Given the description of an element on the screen output the (x, y) to click on. 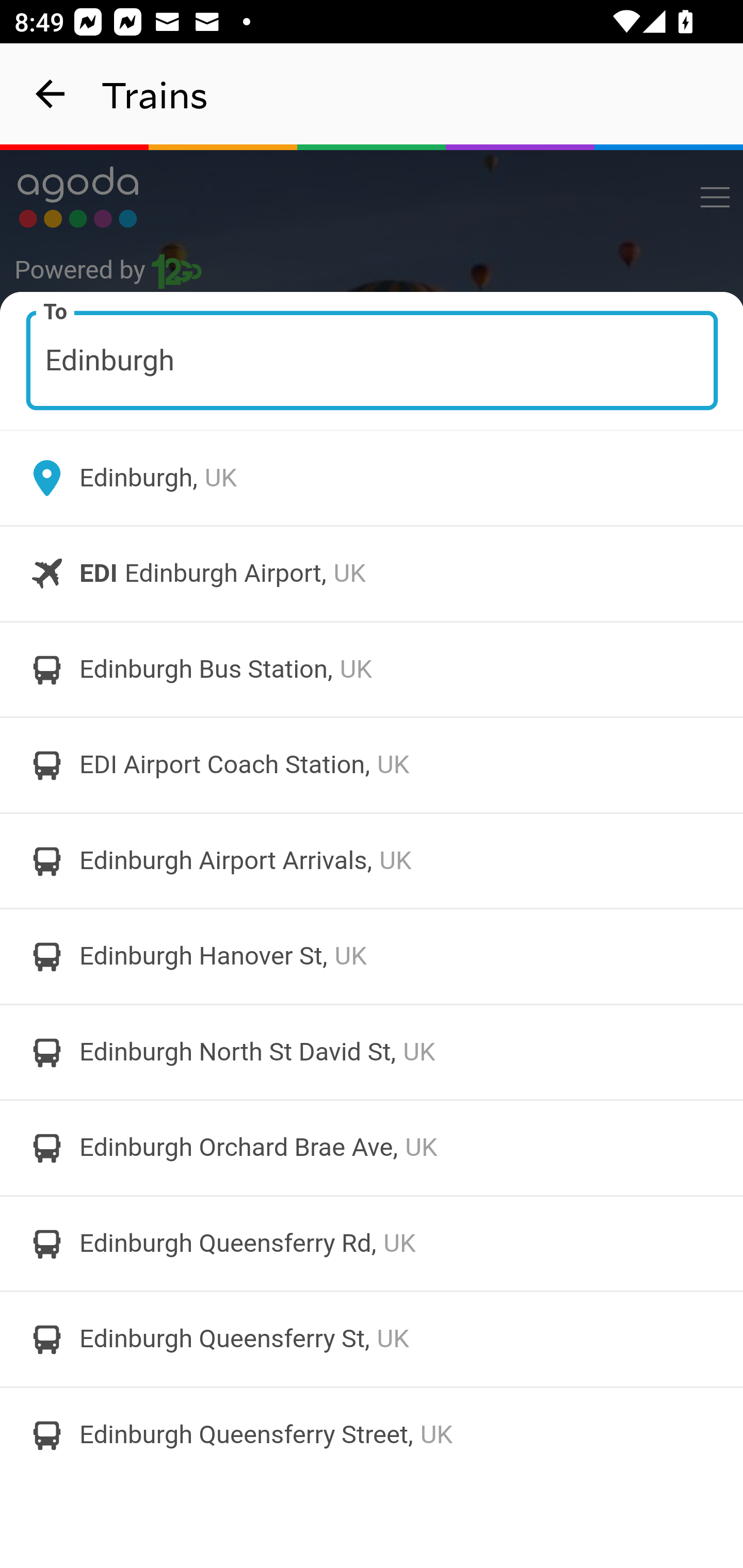
navigation_button (50, 93)
Edinburgh (372, 359)
Edinburgh,UK (371, 477)
EDI Edinburgh Airport , UK (371, 573)
Edinburgh Bus Station,UK (371, 669)
EDI Airport Coach Station,UK (371, 764)
Edinburgh Airport Arrivals,UK (371, 860)
Edinburgh Hanover St,UK (371, 956)
Edinburgh North St David St,UK (371, 1051)
Edinburgh Orchard Brae Ave,UK (371, 1147)
Edinburgh Queensferry Rd,UK (371, 1243)
Edinburgh Queensferry St,UK (371, 1339)
Edinburgh Queensferry Street,UK (371, 1433)
